Given the description of an element on the screen output the (x, y) to click on. 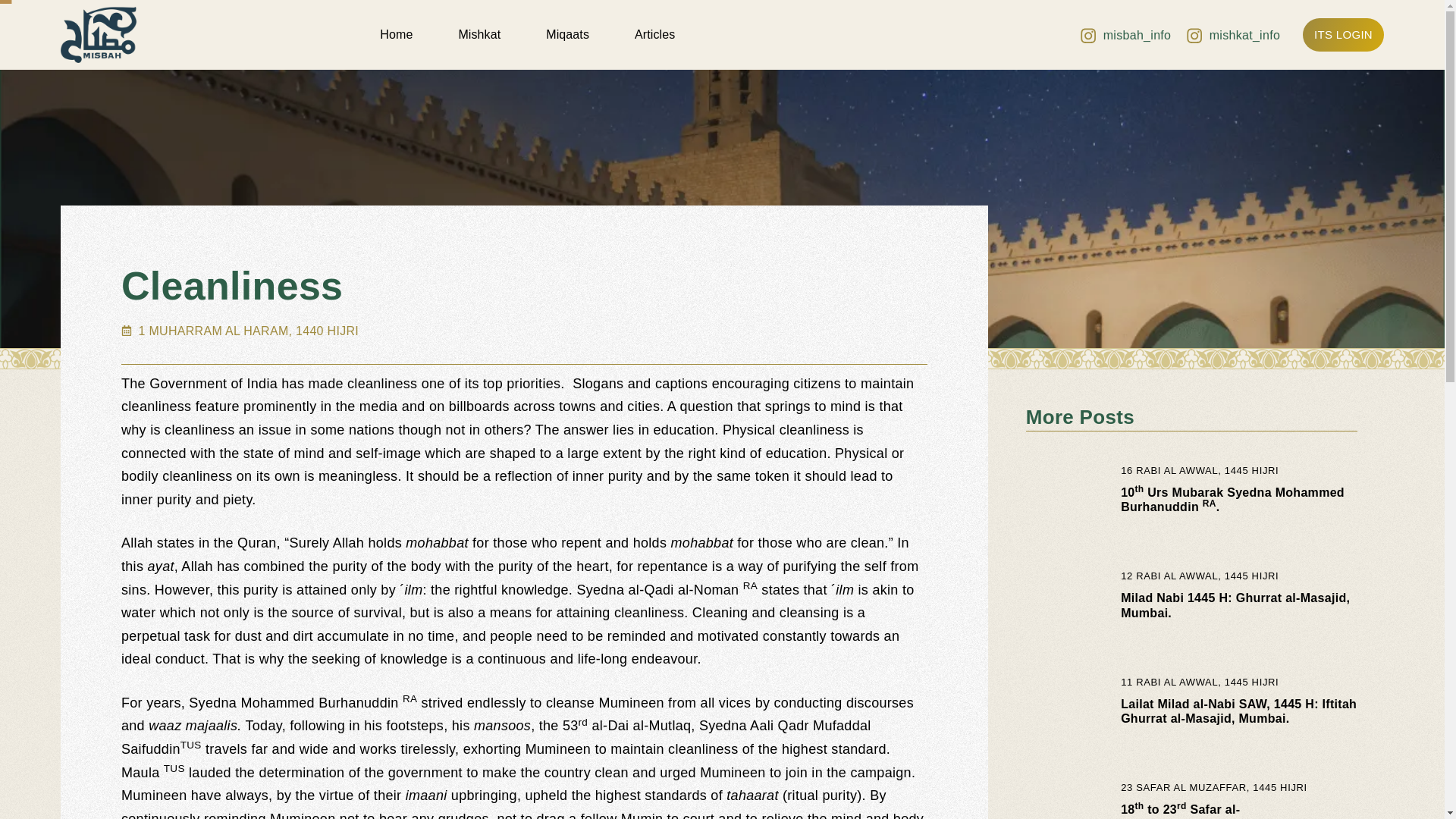
Mishkat (478, 34)
18th to 23rd Safar al-Muzaffar, 1445 H: Godhra (1196, 811)
10th Urs Mubarak Syedna Mohammed Burhanuddin RA. (1232, 499)
Miqaats (567, 34)
ITS LOGIN (1343, 34)
Articles (655, 34)
Milad Nabi 1445 H: Ghurrat al-Masajid, Mumbai. (1235, 605)
Home (396, 34)
More Posts (1080, 416)
